Given the description of an element on the screen output the (x, y) to click on. 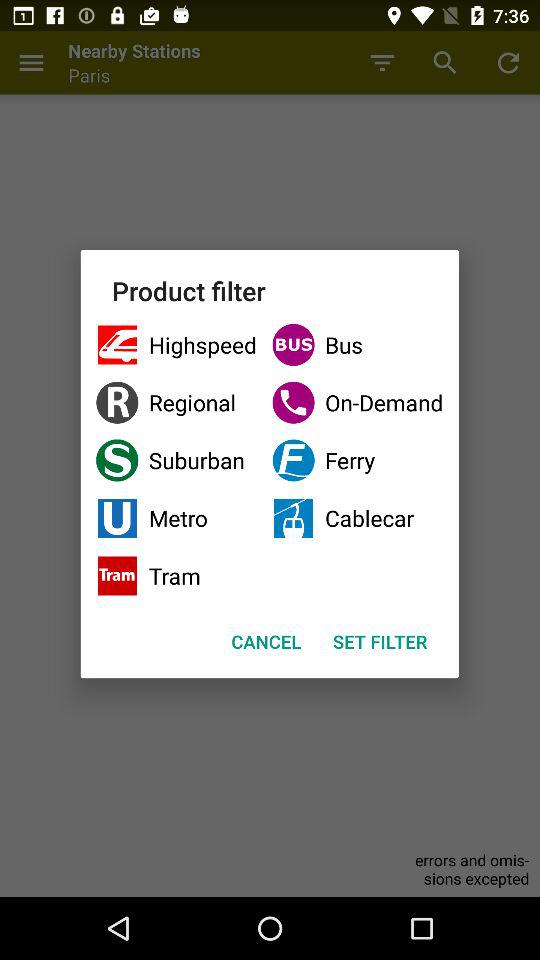
open item to the right of suburban item (357, 518)
